Given the description of an element on the screen output the (x, y) to click on. 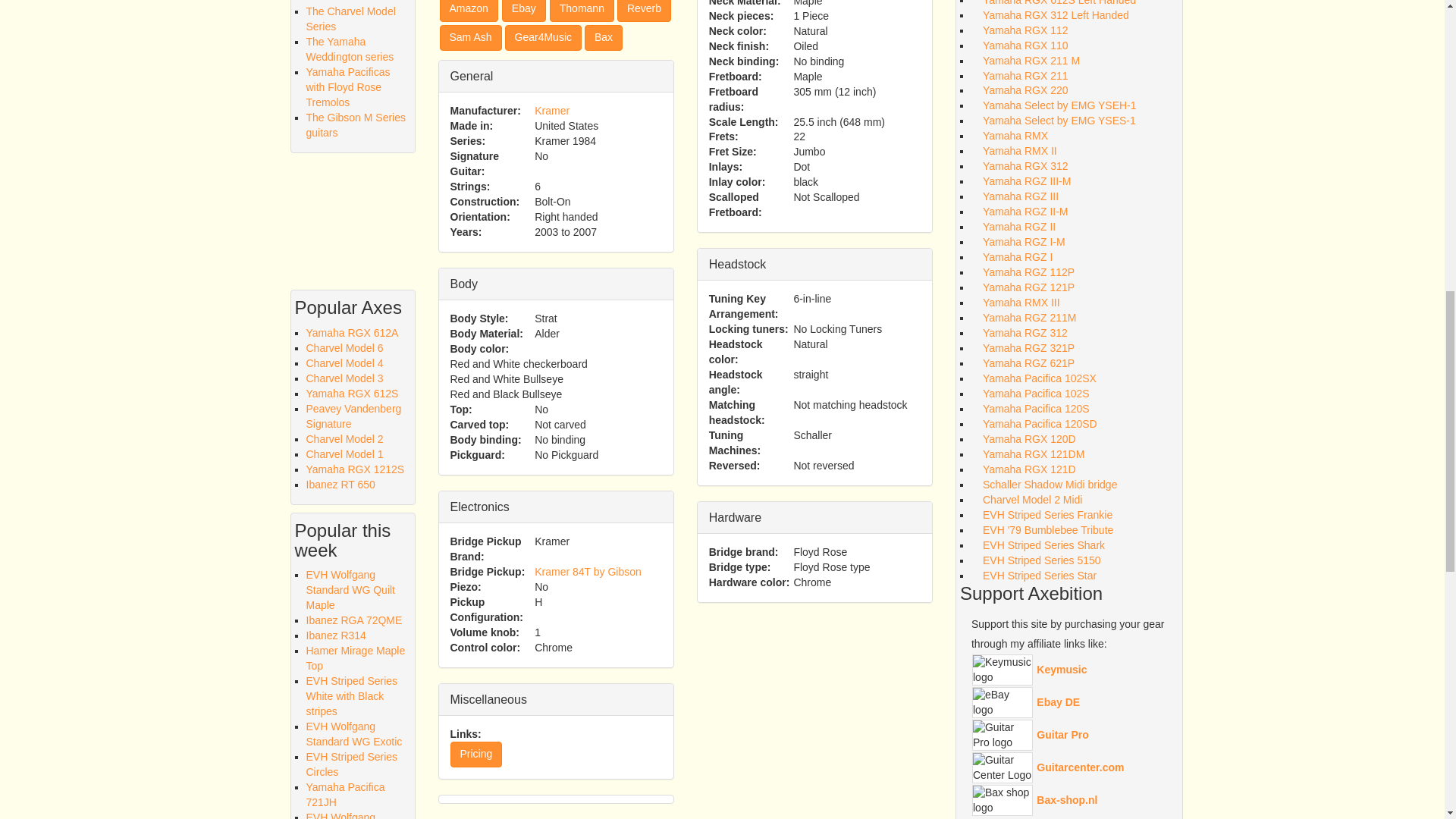
Reverb  (644, 11)
